Given the description of an element on the screen output the (x, y) to click on. 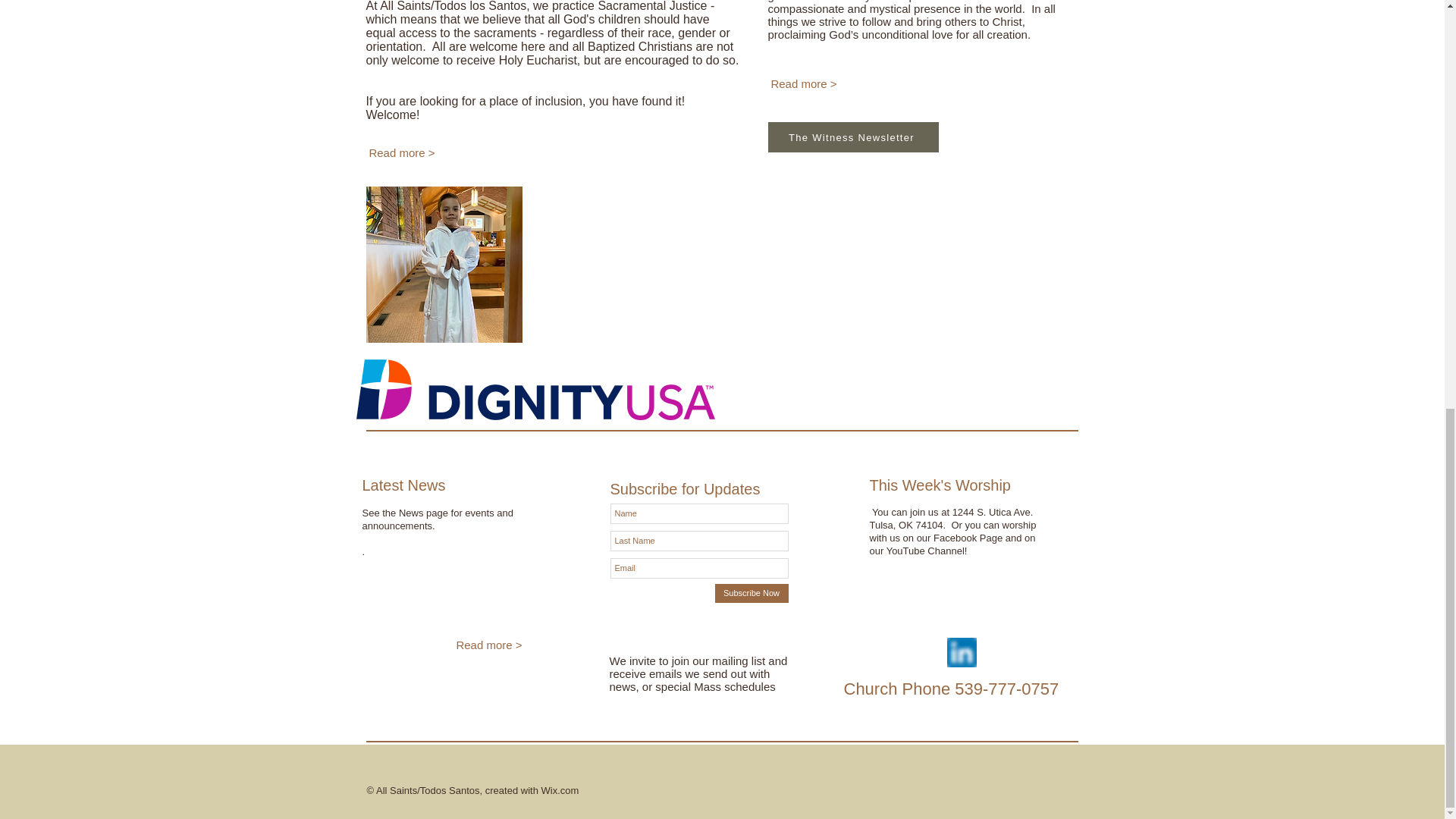
The Witness Newsletter (852, 137)
Wix.com (559, 790)
Subscribe Now (750, 592)
